Given the description of an element on the screen output the (x, y) to click on. 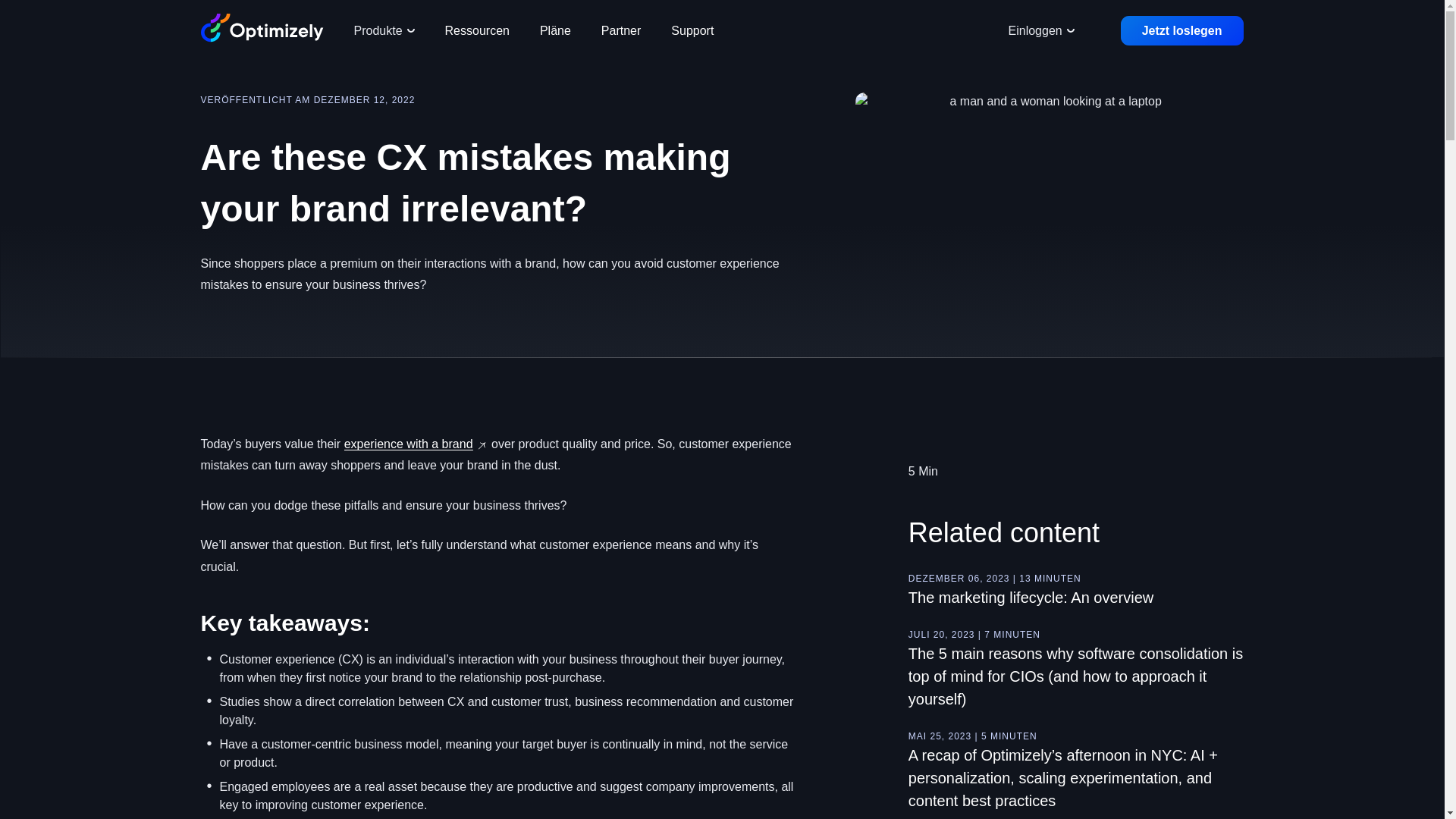
Support (692, 30)
experience with a brand (408, 443)
Ressourcen (476, 30)
Optimizely Logo (261, 30)
The marketing lifecycle: An overview (1030, 597)
Optimizely Logo (261, 27)
Produkte (383, 30)
Jetzt loslegen (1181, 30)
Einloggen (1040, 30)
Partner (621, 30)
